Given the description of an element on the screen output the (x, y) to click on. 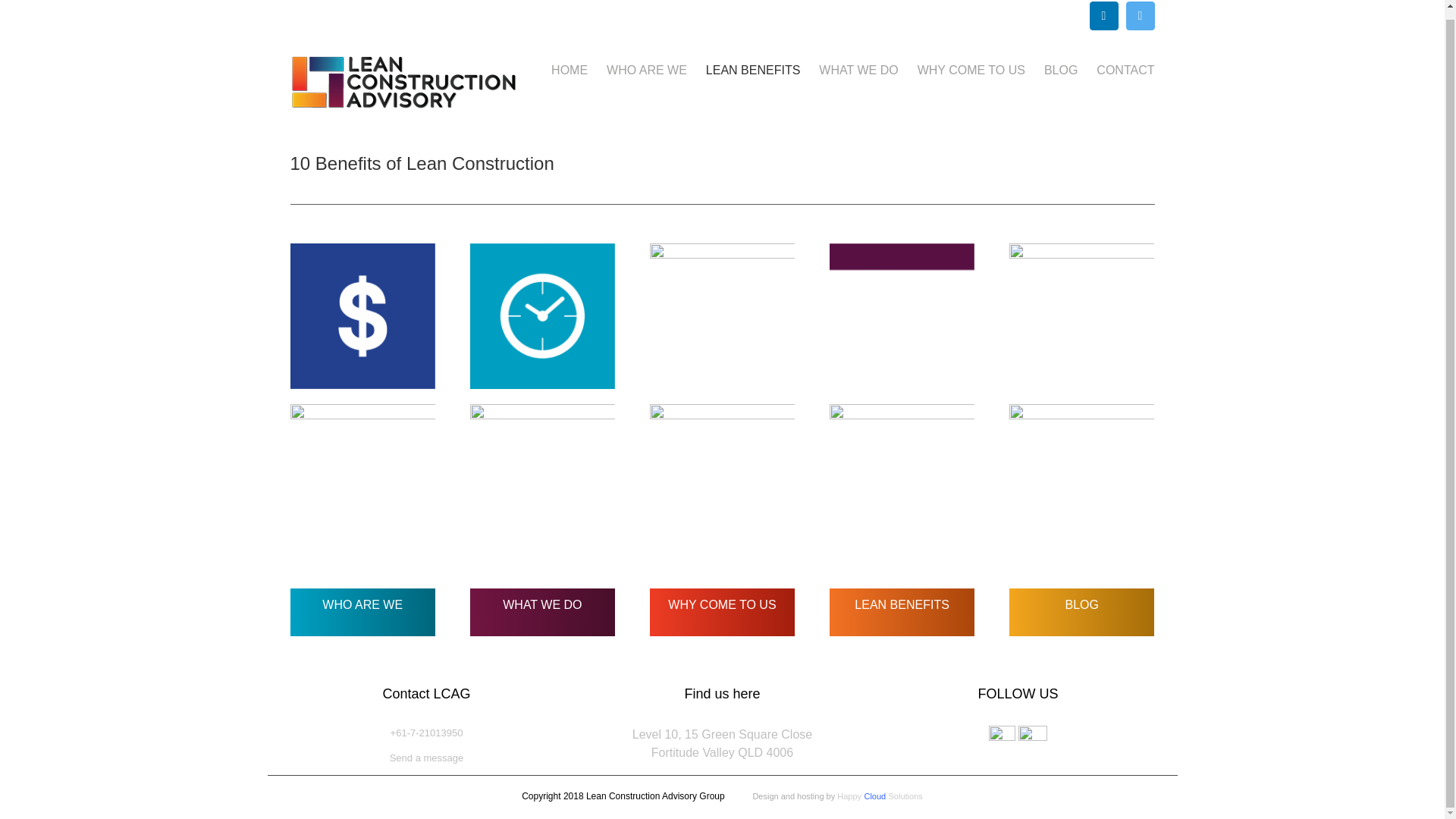
LEAN BENEFITS (752, 70)
Happier Employees (721, 476)
LinkedIn (1103, 15)
Twitter (721, 607)
WHO ARE WE (1139, 15)
Risk Management (647, 70)
improved (542, 476)
WHAT WE DO (1081, 316)
WHY COME TO US (858, 70)
